Given the description of an element on the screen output the (x, y) to click on. 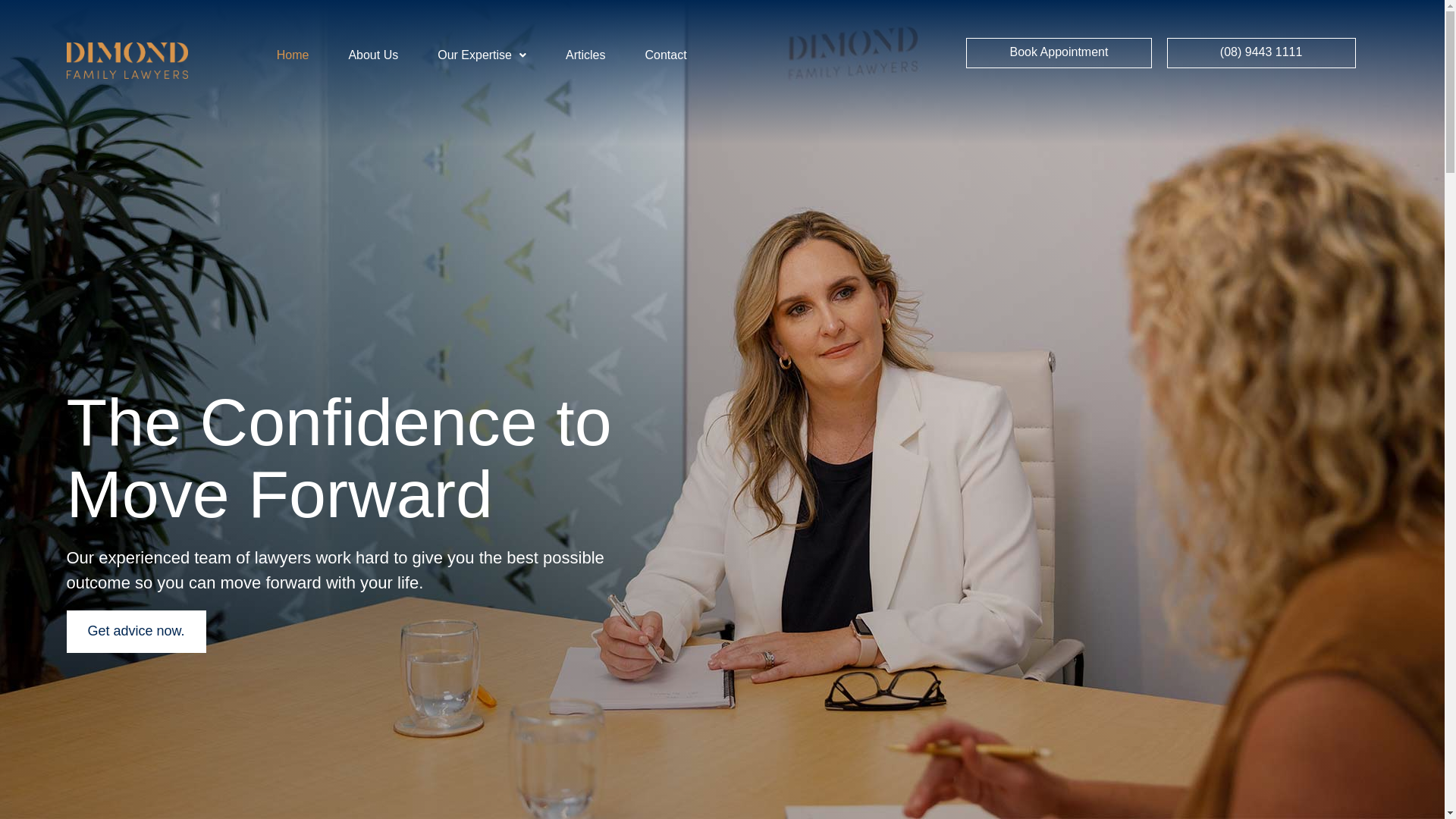
Get advice now. Element type: text (136, 631)
Contact Element type: text (665, 54)
(08) 9443 1111 Element type: text (1261, 52)
Book Appointment Element type: text (1058, 52)
About Us Element type: text (372, 54)
Our Expertise Element type: text (481, 54)
Home Element type: text (292, 54)
Articles Element type: text (585, 54)
dfl-final-logo Element type: hover (127, 60)
